Given the description of an element on the screen output the (x, y) to click on. 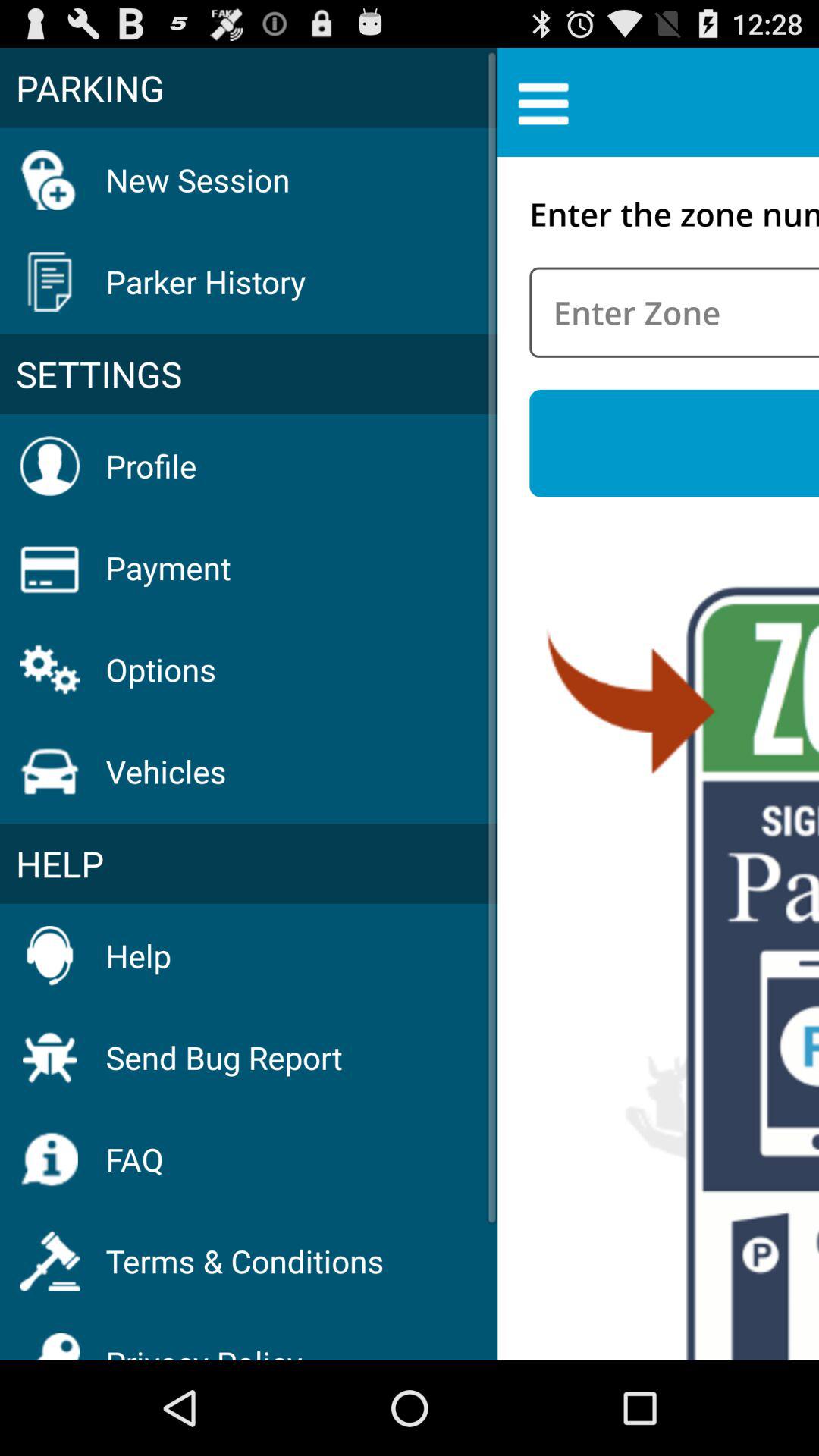
turn off new session item (197, 179)
